Given the description of an element on the screen output the (x, y) to click on. 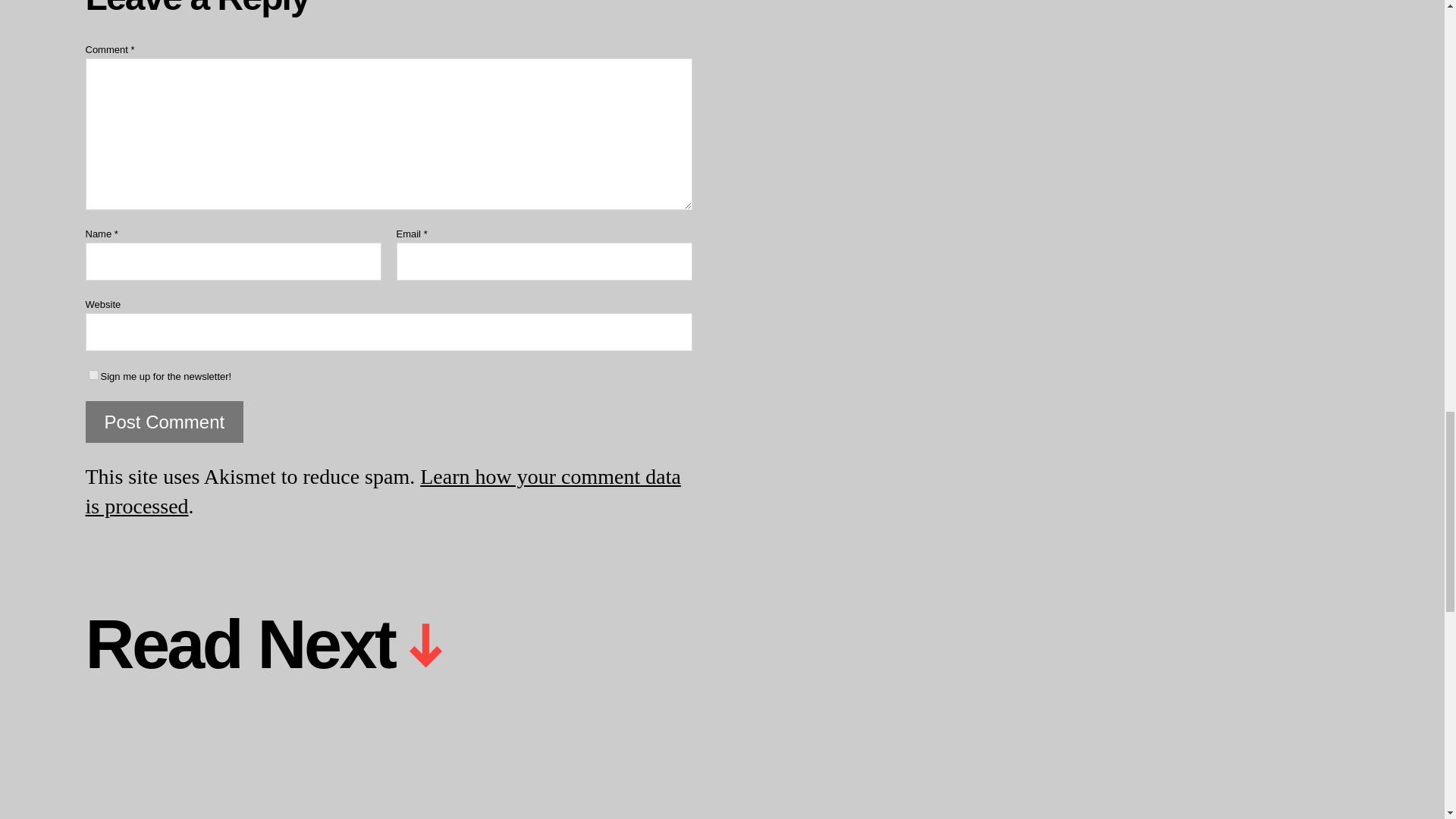
Post Comment (163, 422)
1 (92, 375)
Post Comment (163, 422)
Learn how your comment data is processed (381, 491)
